Given the description of an element on the screen output the (x, y) to click on. 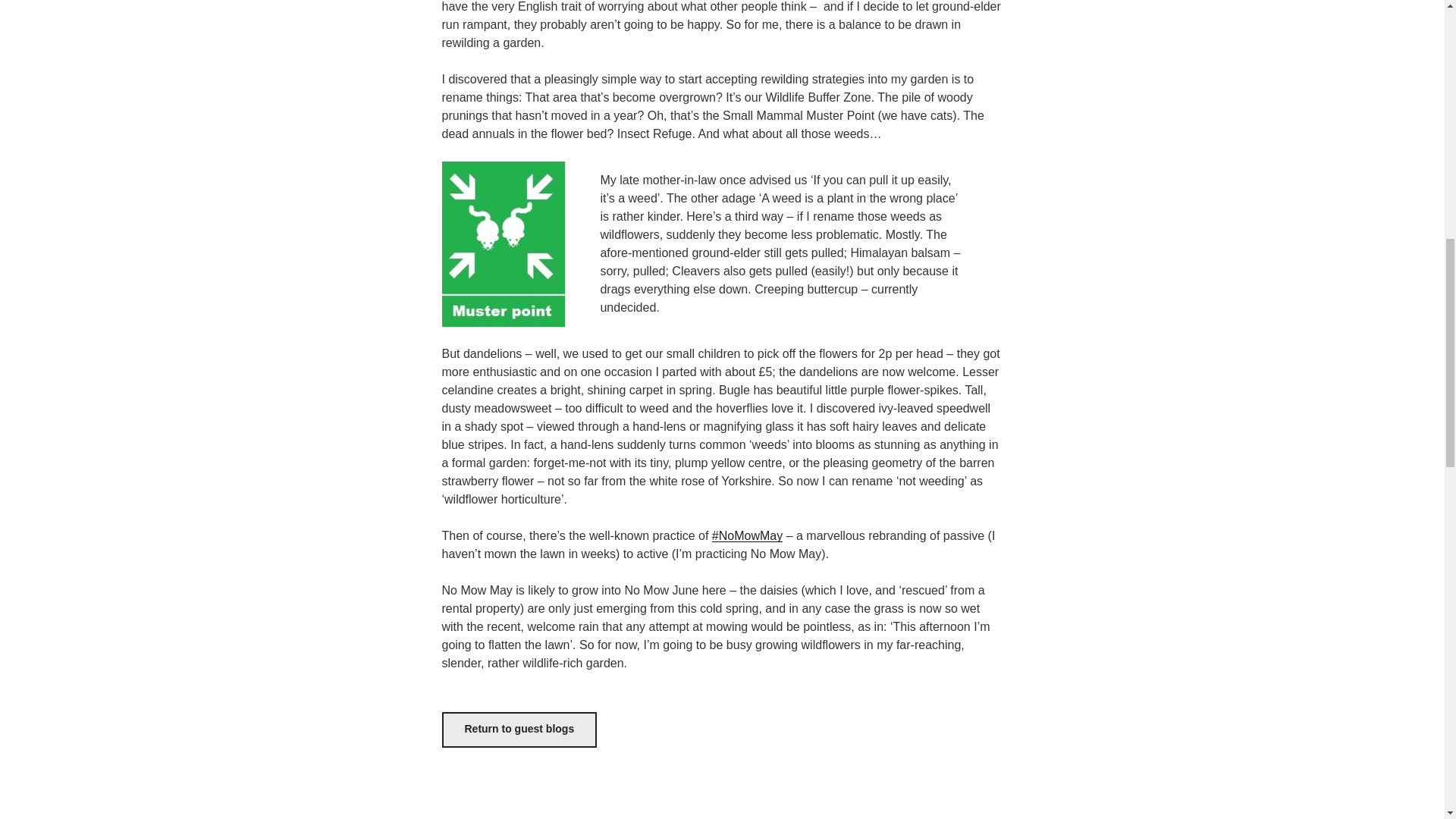
Return to guest blogs (518, 729)
